Given the description of an element on the screen output the (x, y) to click on. 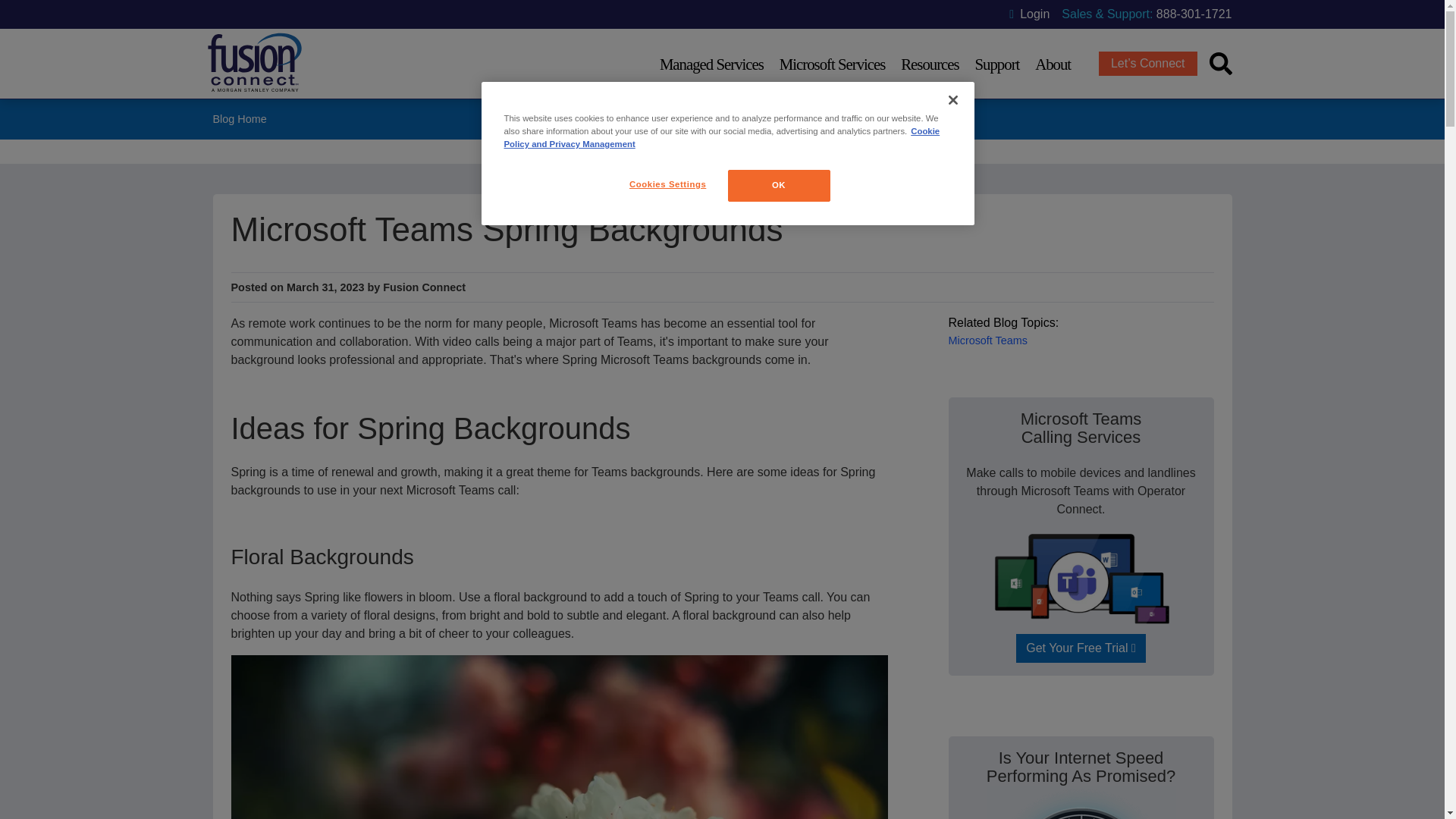
Fusion Connect - A Morgan Stanley Company (253, 88)
Managed Services (710, 63)
Fusion Connect Blog (239, 119)
Support (996, 63)
Resources (929, 63)
Microsoft Services (831, 63)
Login (1029, 13)
888-301-1721 (1193, 13)
